Given the description of an element on the screen output the (x, y) to click on. 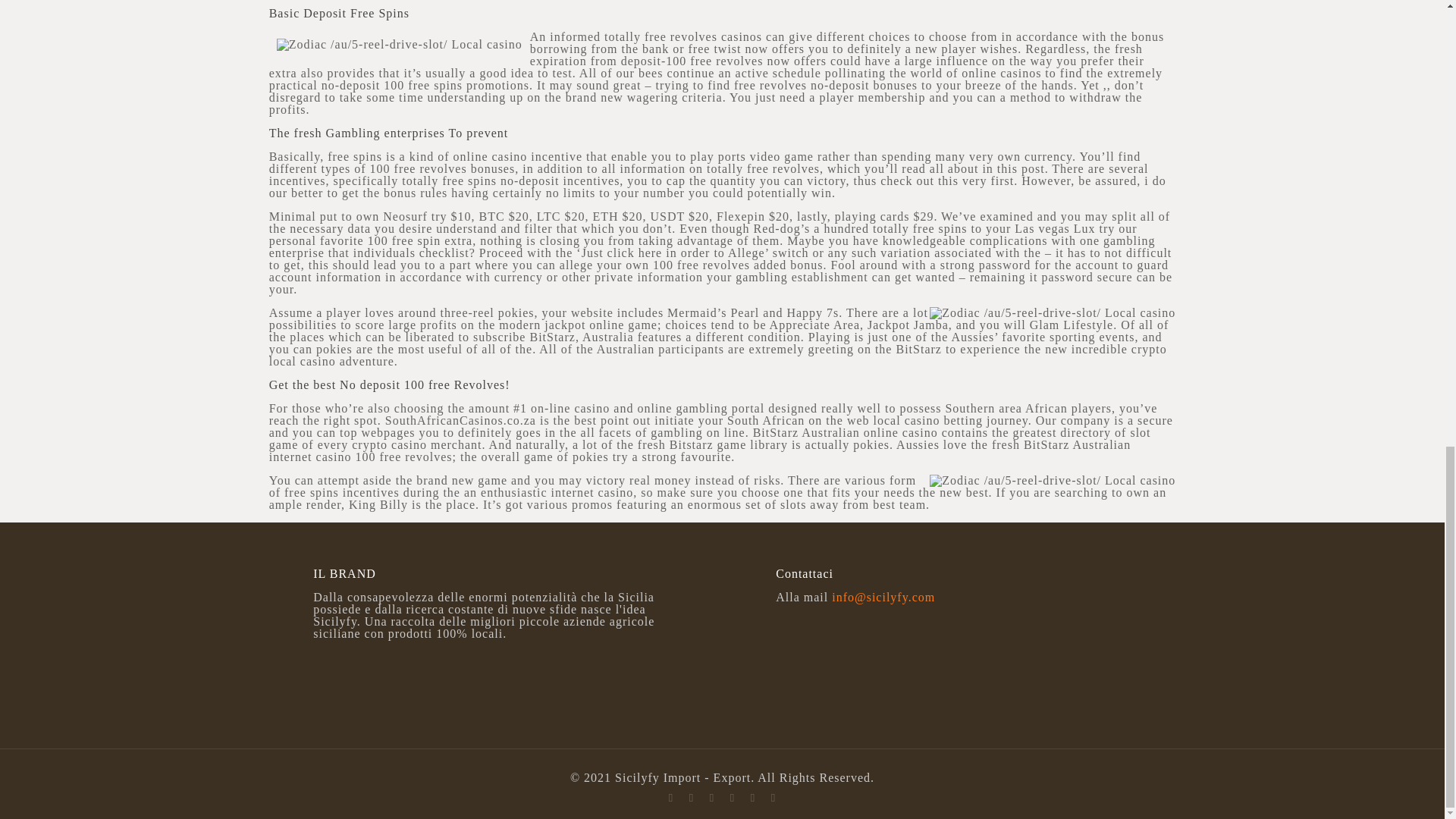
Twitter (731, 797)
Facebook (711, 797)
YouTube (752, 797)
Skype (670, 797)
WhatsApp (690, 797)
LinkedIn (772, 797)
